Given the description of an element on the screen output the (x, y) to click on. 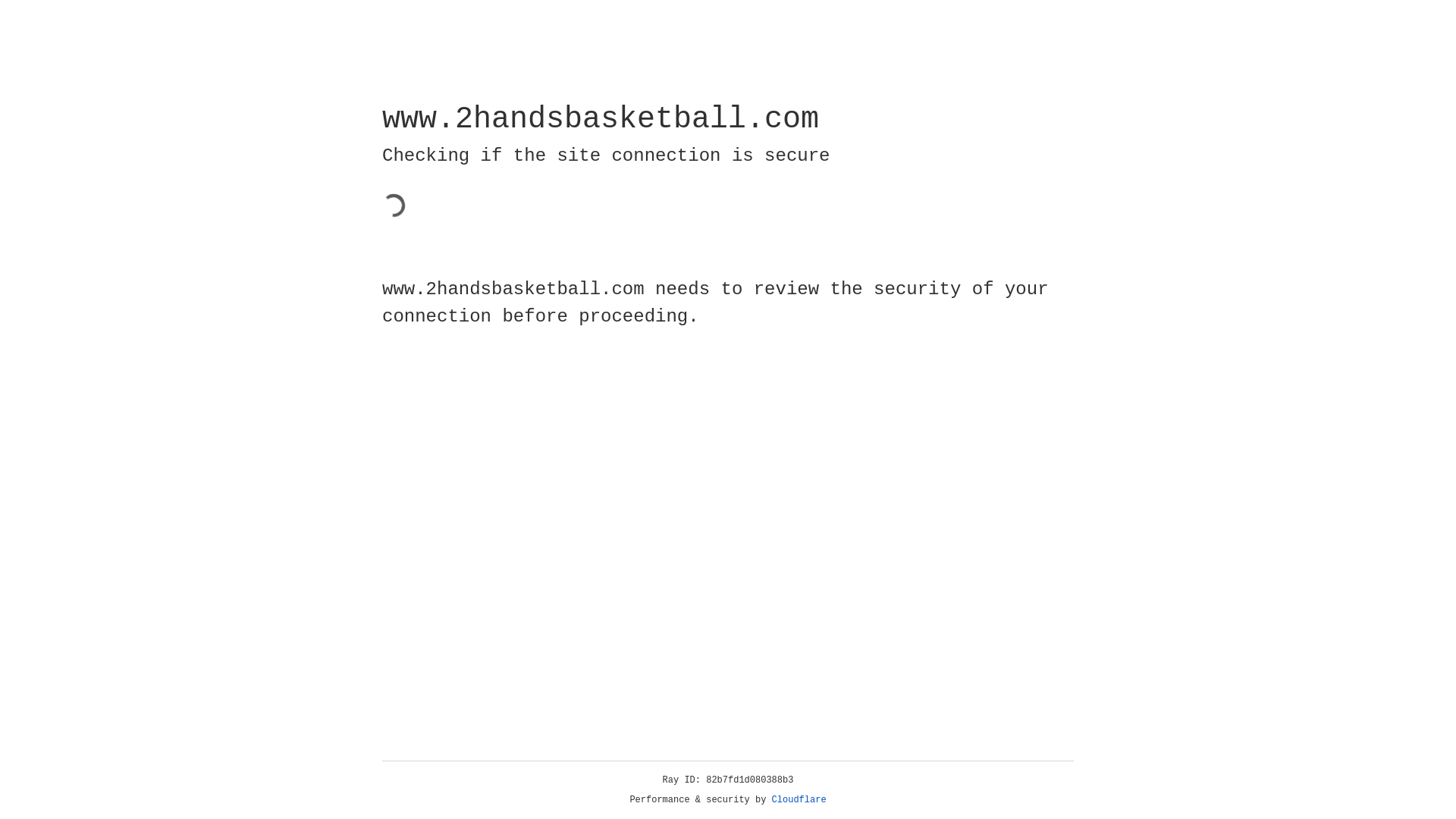
Cloudflare Element type: text (798, 799)
